Given the description of an element on the screen output the (x, y) to click on. 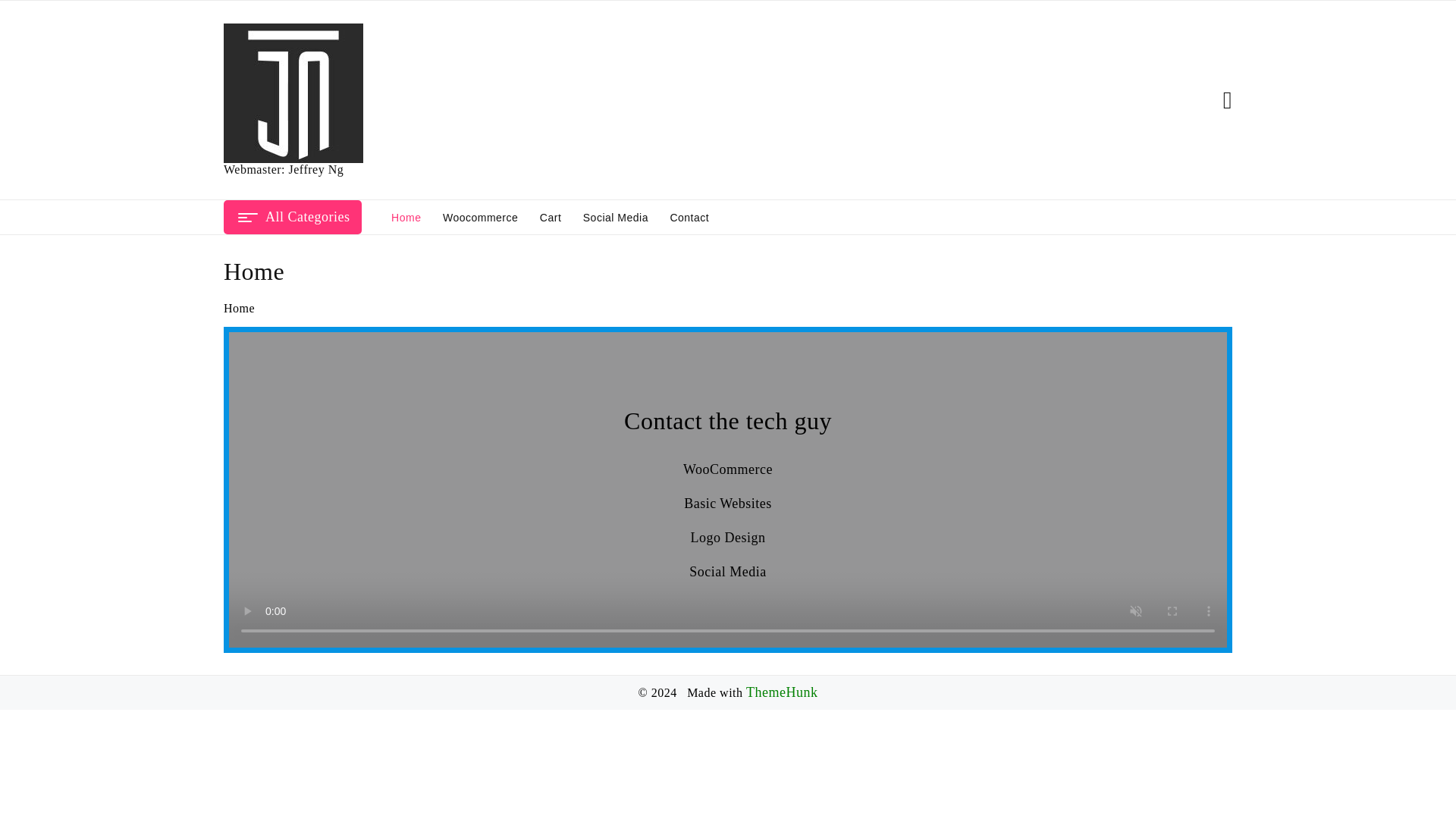
Contact (689, 216)
Social Media (615, 216)
Home (405, 216)
Woocommerce (480, 216)
Cart (550, 216)
ThemeHunk (780, 692)
